Given the description of an element on the screen output the (x, y) to click on. 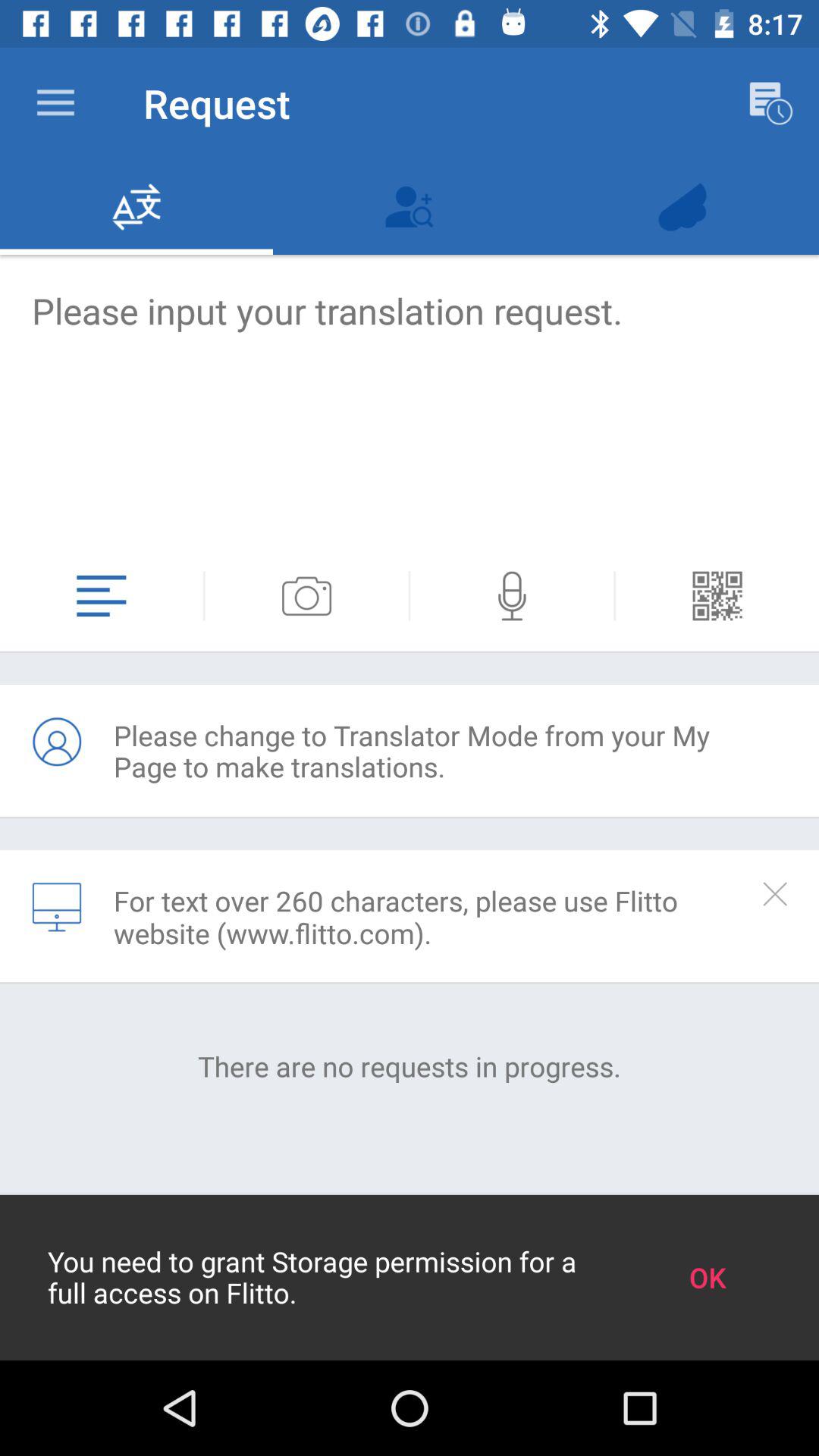
tap item to the left of please change to item (56, 741)
